Given the description of an element on the screen output the (x, y) to click on. 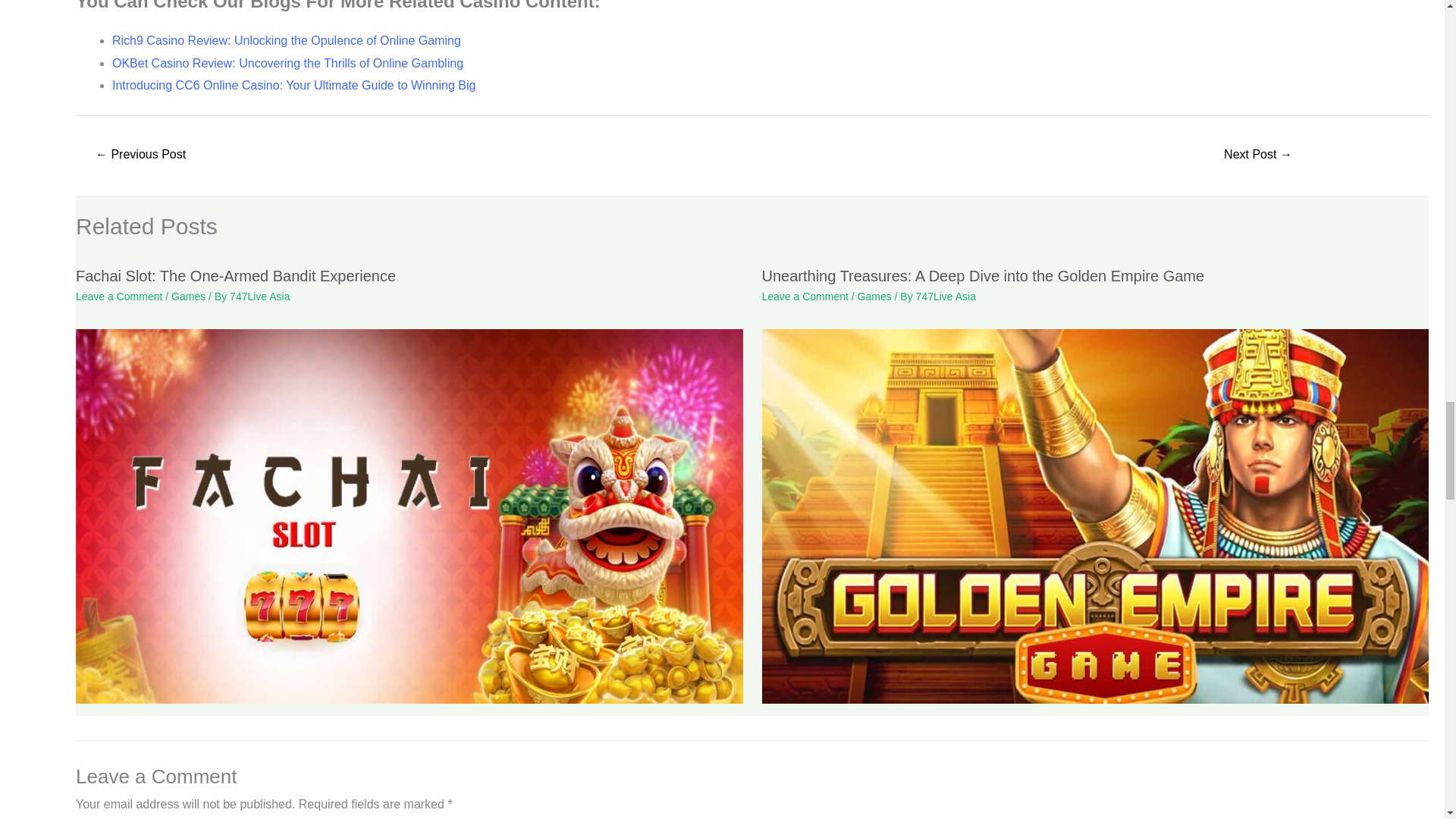
View all posts by 747Live Asia (945, 296)
View all posts by 747Live Asia (259, 296)
Exploring Phil168 ph: Your Ultimate Online Casino Experience (1257, 155)
